Given the description of an element on the screen output the (x, y) to click on. 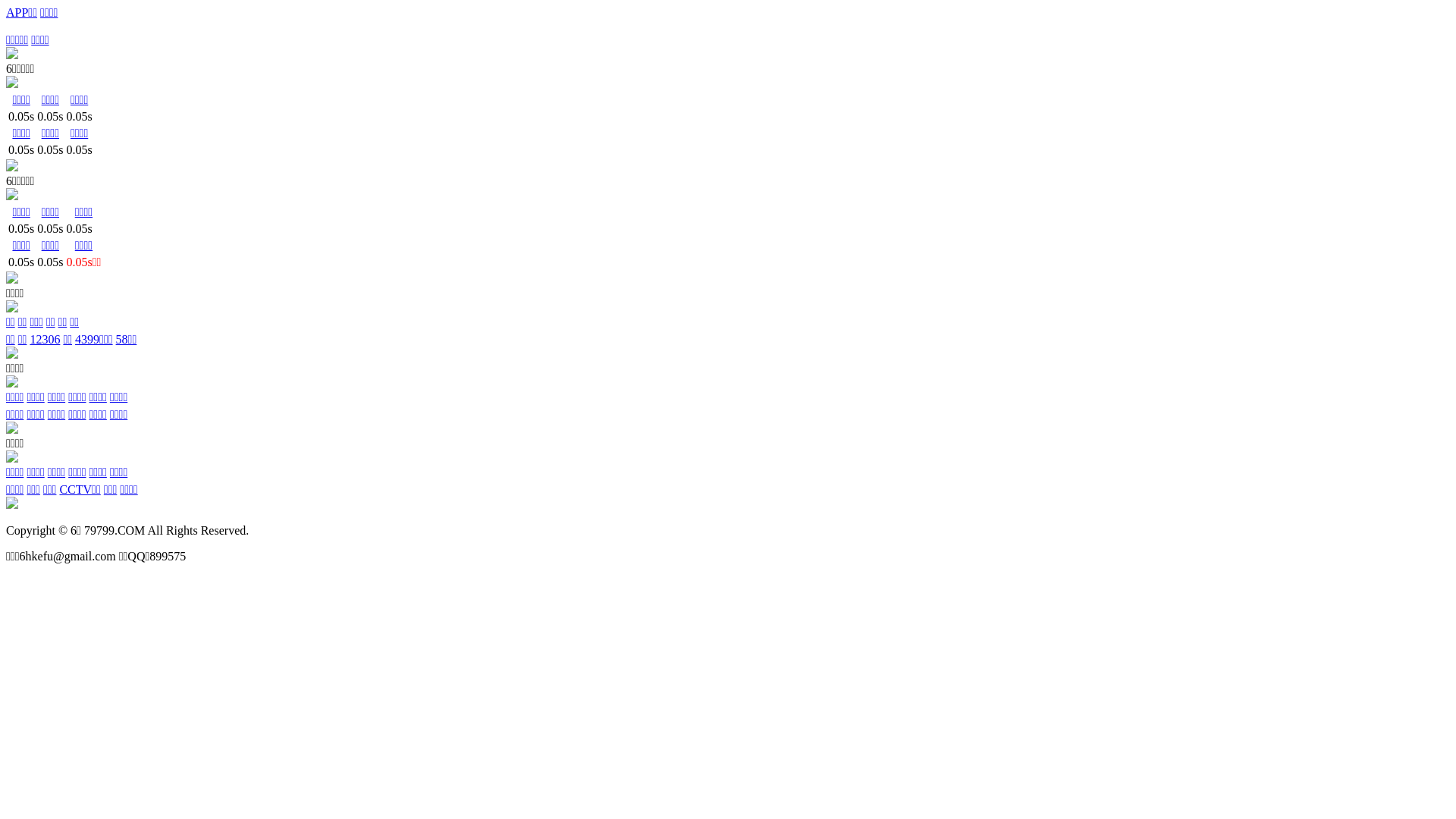
12306 Element type: text (44, 338)
